Given the description of an element on the screen output the (x, y) to click on. 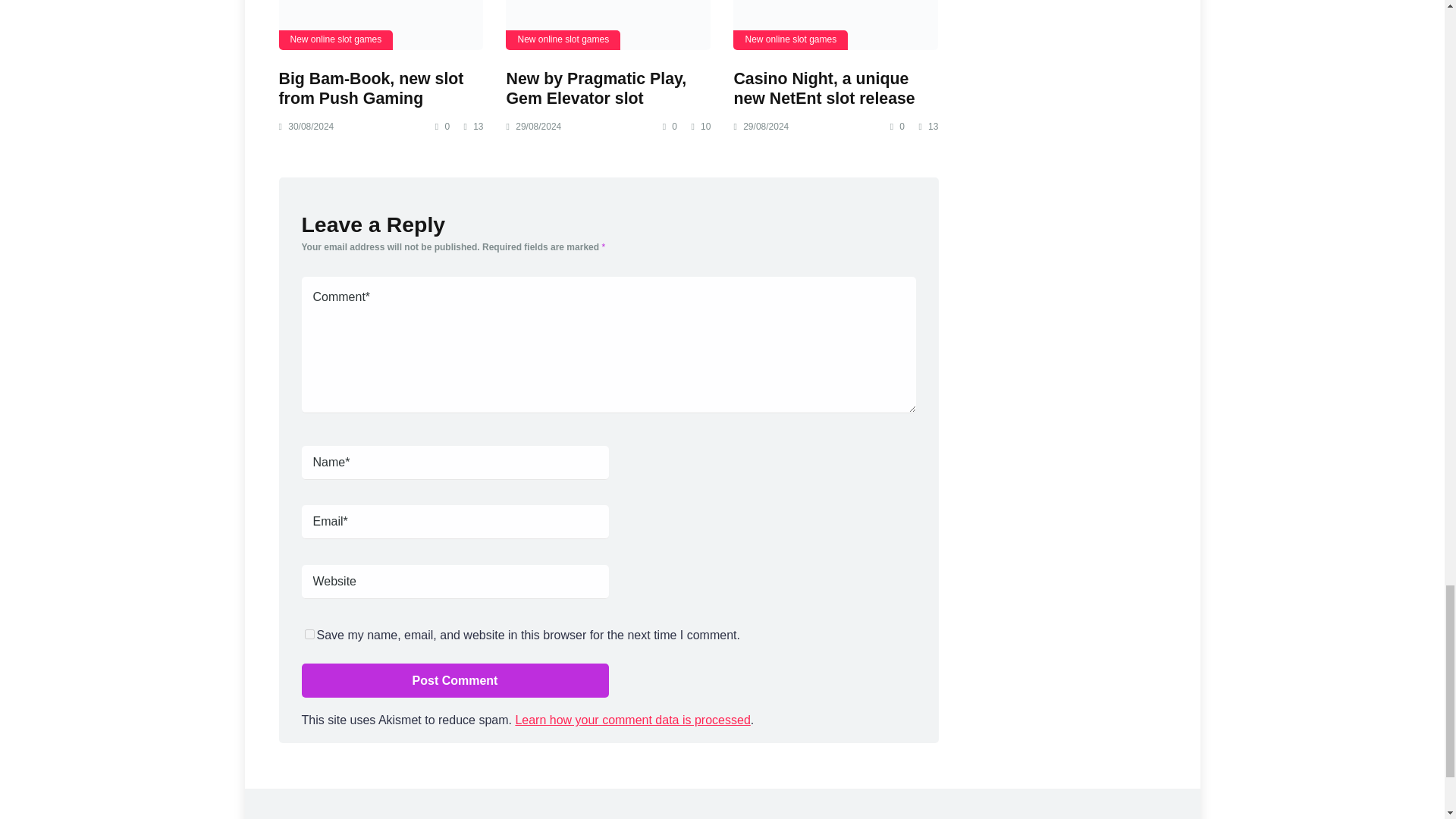
Big Bam-Book, new slot from Push Gaming (381, 24)
New by Pragmatic Play, Gem Elevator slot (607, 24)
New by Pragmatic Play, Gem Elevator slot (595, 88)
Post Comment (454, 680)
Casino Night, a unique new NetEnt slot release (835, 24)
Casino Night, a unique new NetEnt slot release (823, 88)
yes (309, 634)
Big Bam-Book, new slot from Push Gaming (371, 88)
Big Bam-Book, new slot from Push Gaming (371, 88)
New online slot games (336, 39)
